Given the description of an element on the screen output the (x, y) to click on. 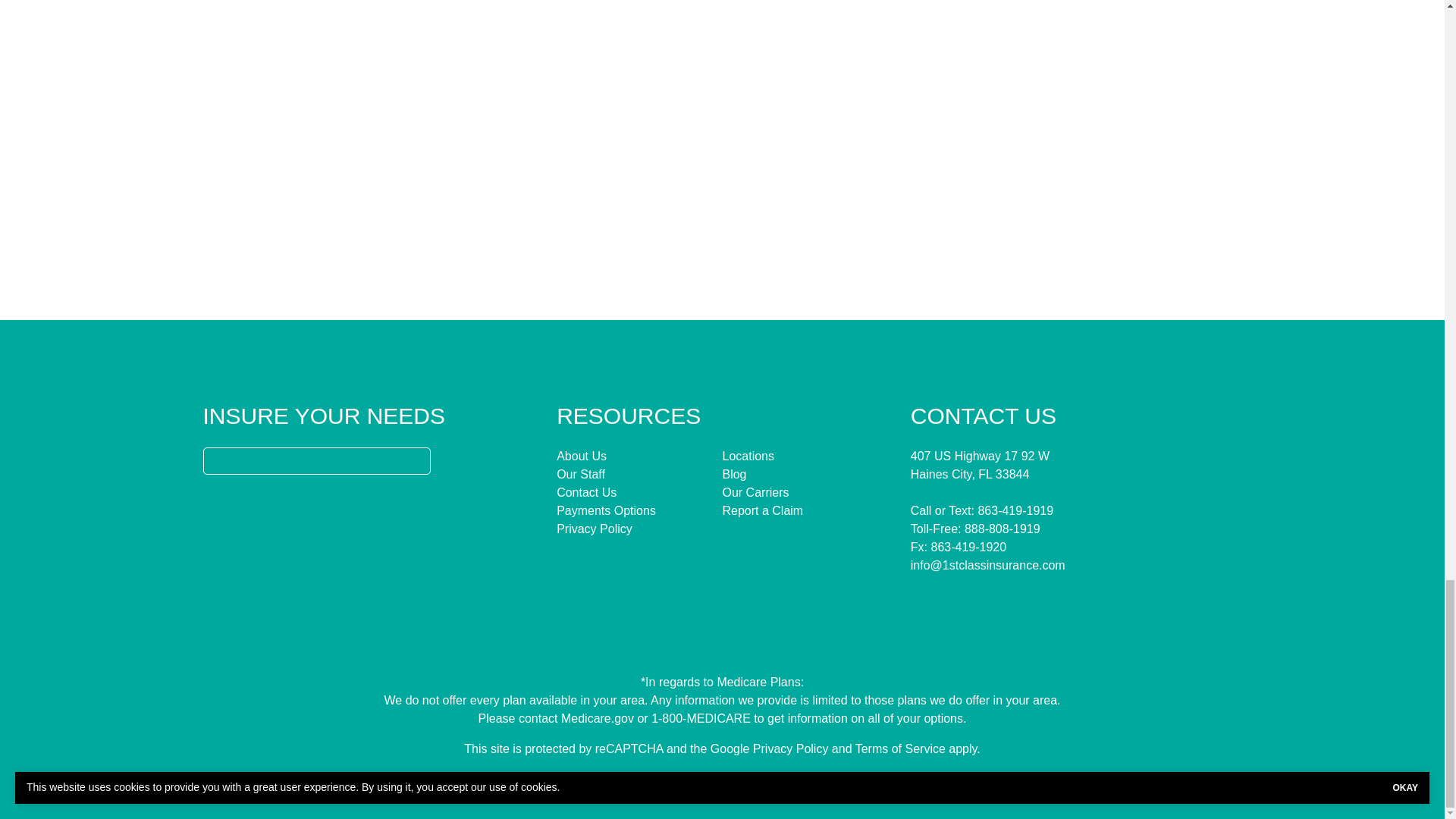
Insurance Website Builder (831, 779)
Search (416, 460)
